Given the description of an element on the screen output the (x, y) to click on. 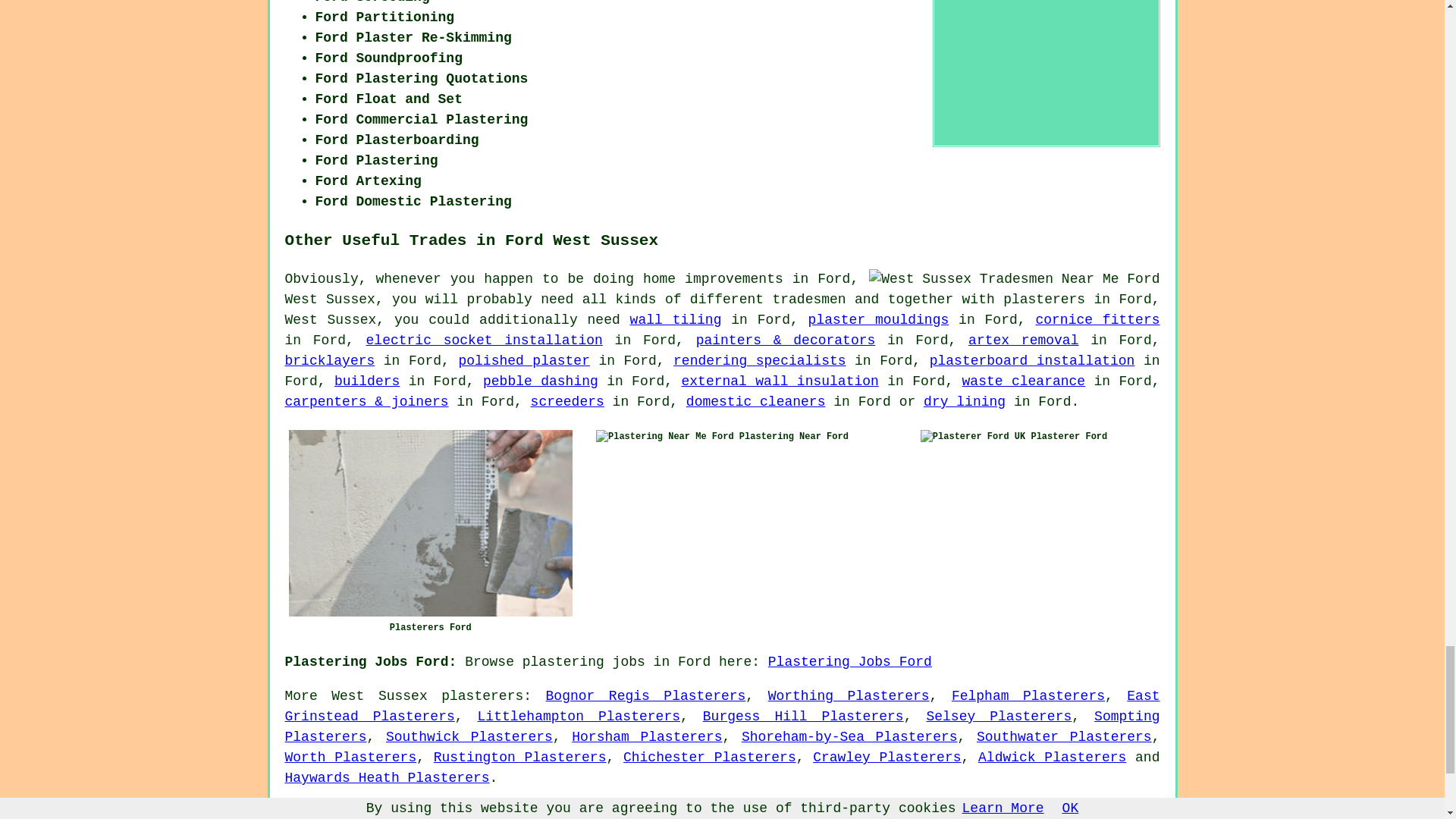
Plasterers Ford (430, 522)
Search for Ford Plasterers (1046, 70)
Plasterer Ford UK (972, 436)
Plastering Near Me Ford (664, 436)
Bognor Regis Plasterers (645, 695)
West Sussex Tradesmen Near Me Ford (1013, 279)
Worthing Plasterers (849, 695)
